Given the description of an element on the screen output the (x, y) to click on. 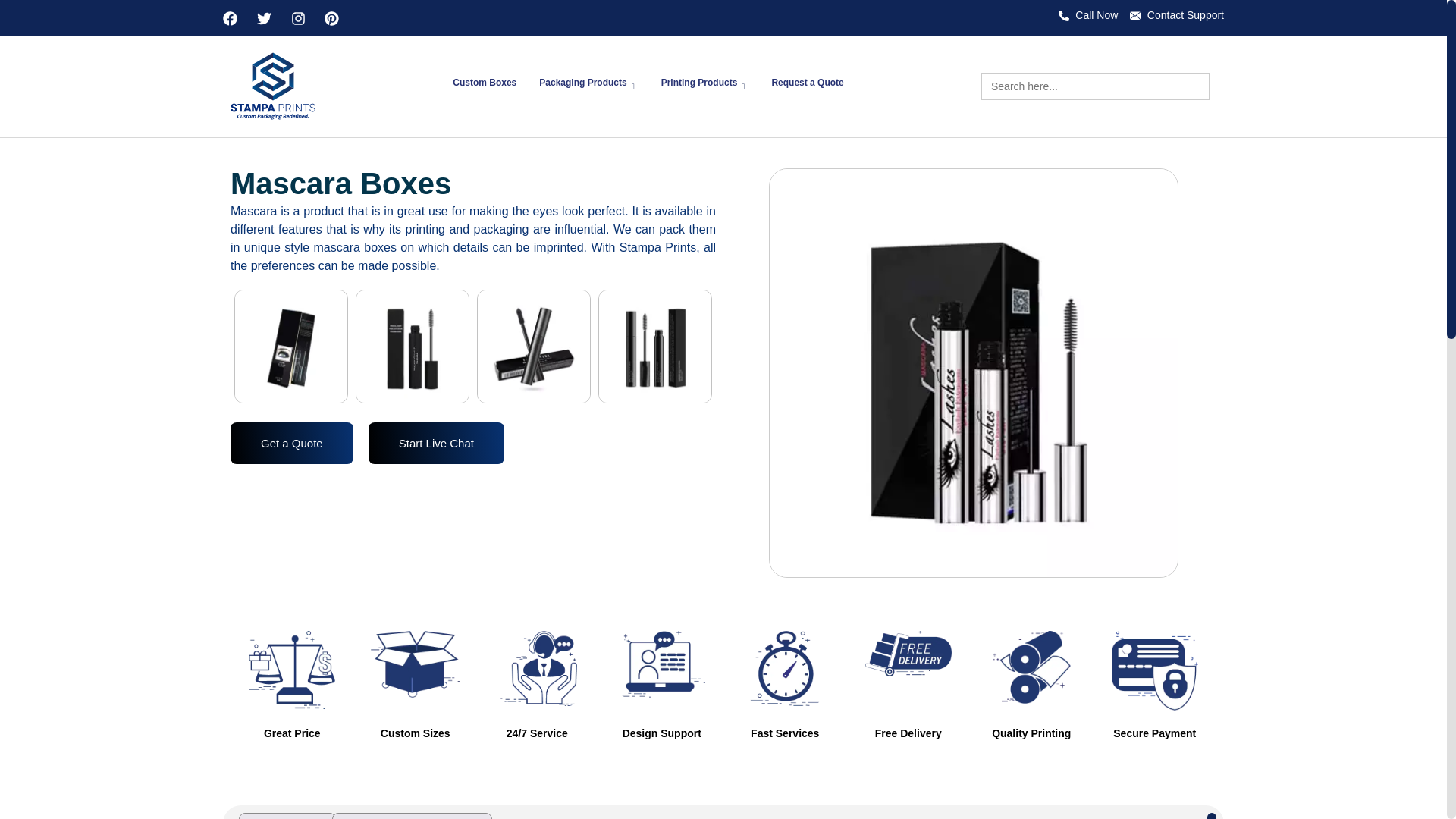
Custom Boxes (484, 86)
Contact Support (1176, 15)
Packaging Products (588, 86)
Call Now (1088, 15)
